Given the description of an element on the screen output the (x, y) to click on. 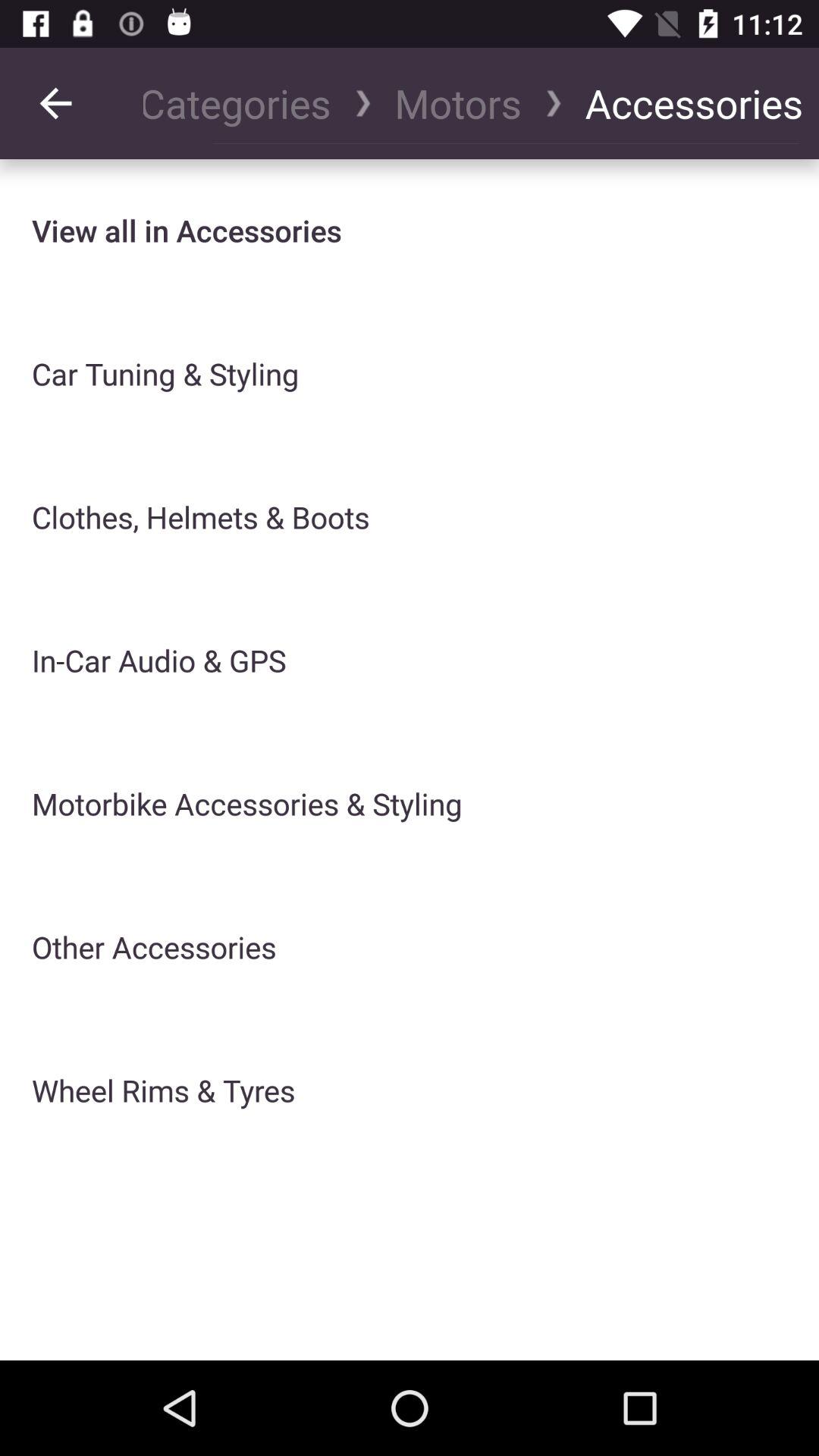
click other accessories item (153, 947)
